Given the description of an element on the screen output the (x, y) to click on. 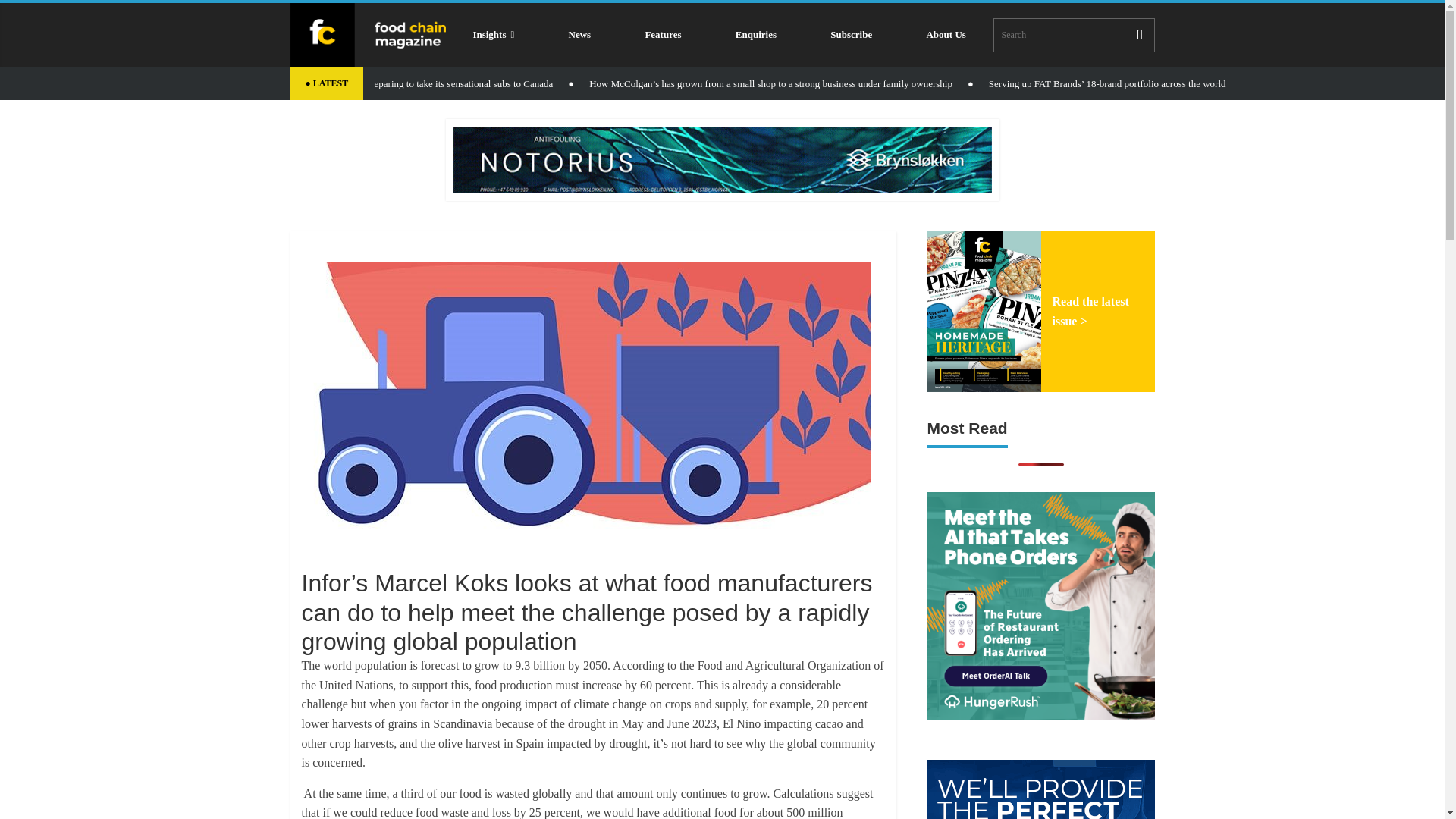
Insights (493, 35)
News (579, 35)
Enquiries (755, 35)
Subscribe (851, 35)
FoodChain Magazine (367, 35)
About Us (945, 35)
Features (662, 35)
